Given the description of an element on the screen output the (x, y) to click on. 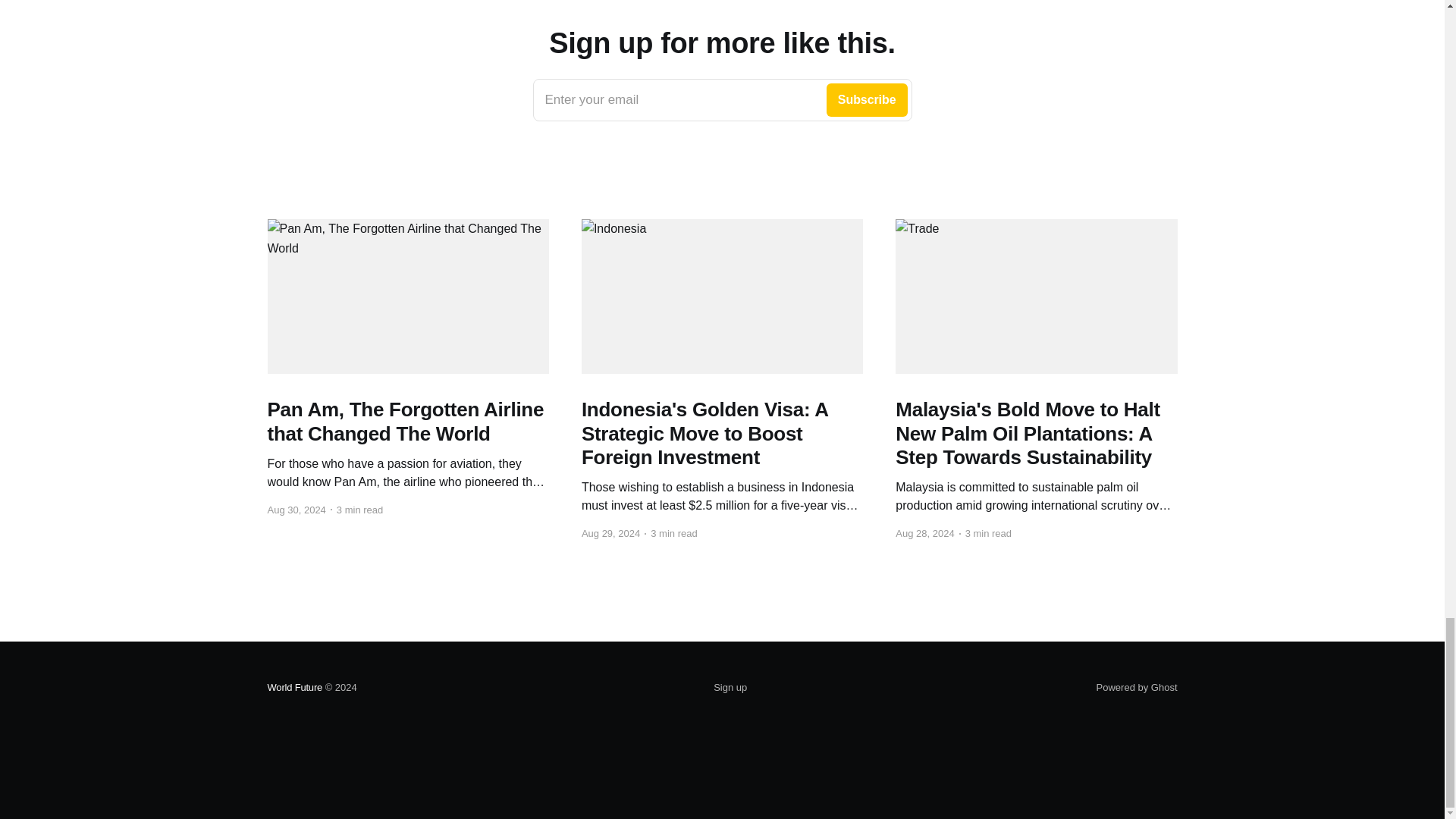
Sign up (729, 687)
World Future (293, 686)
Powered by Ghost (1136, 686)
